Given the description of an element on the screen output the (x, y) to click on. 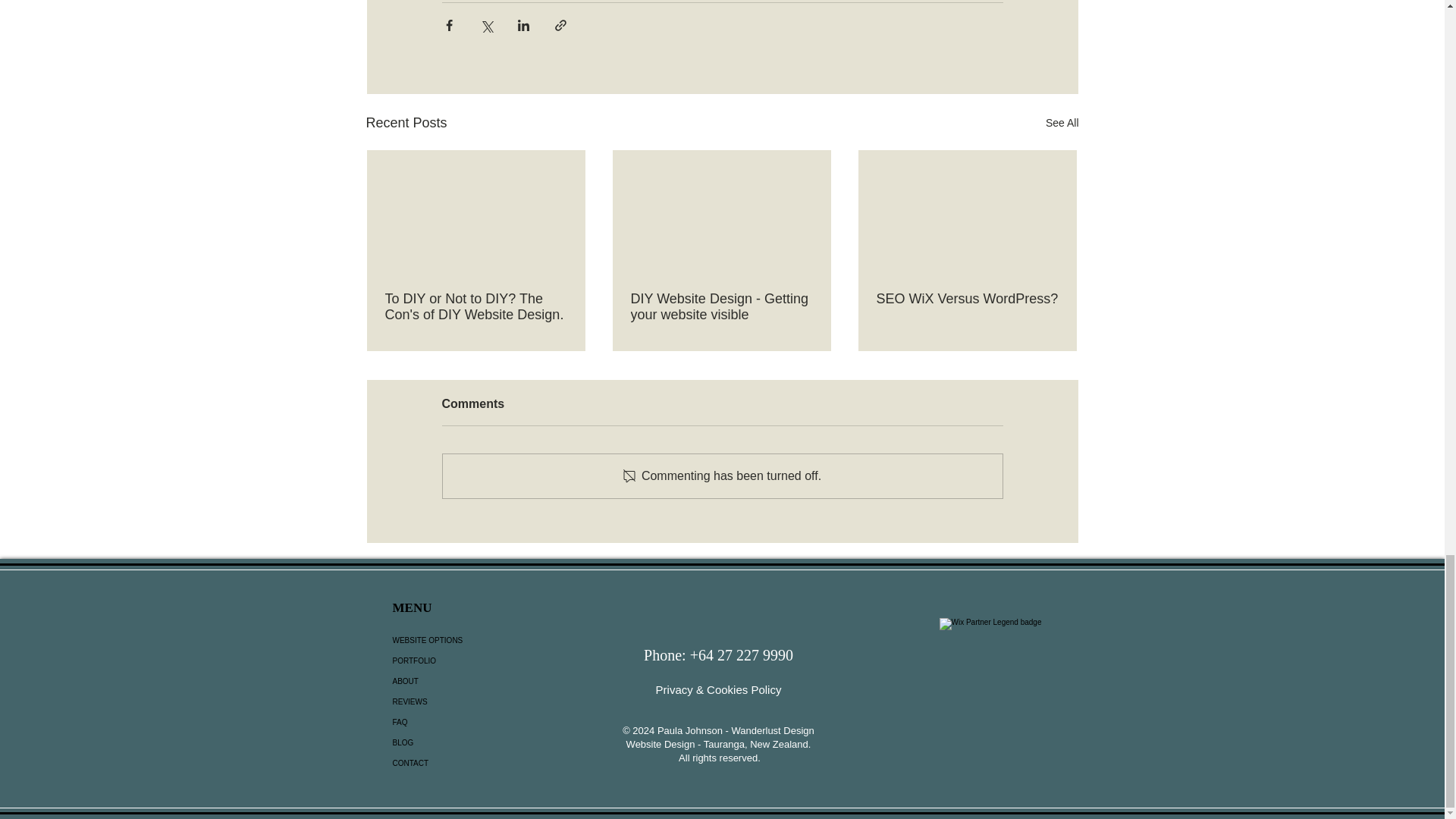
To DIY or Not to DIY? The Con's of DIY Website Design. (476, 306)
SEO WiX Versus WordPress? (967, 299)
DIY Website Design - Getting your website visible (721, 306)
PORTFOLIO (469, 660)
See All (1061, 123)
